Given the description of an element on the screen output the (x, y) to click on. 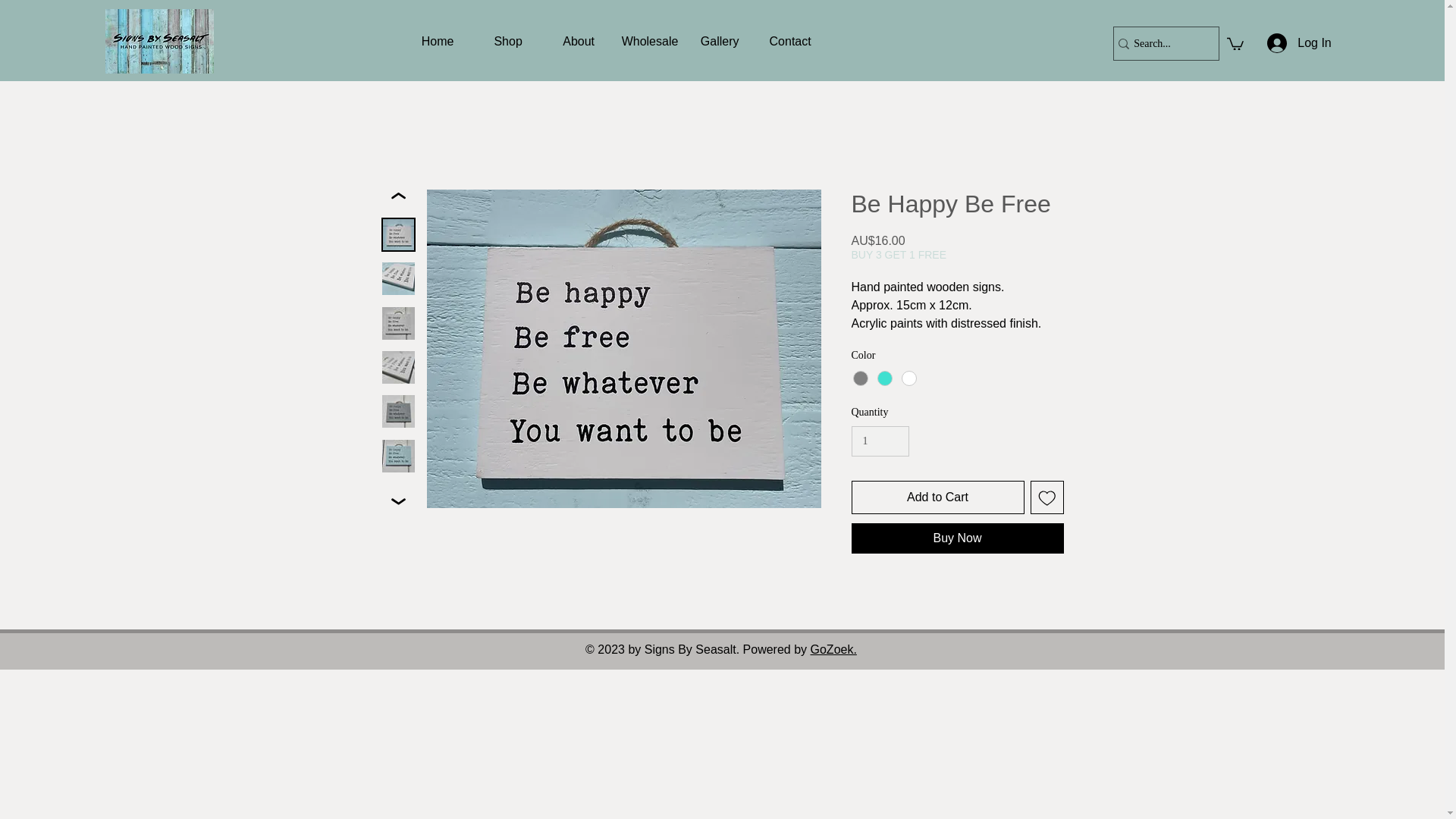
Wholesale (649, 41)
Home (438, 41)
Log In (1294, 42)
Add to Cart (936, 497)
Gallery (719, 41)
1 (879, 441)
Contact (790, 41)
Buy Now (956, 538)
About (578, 41)
GoZoek. (833, 649)
Shop (508, 41)
